Given the description of an element on the screen output the (x, y) to click on. 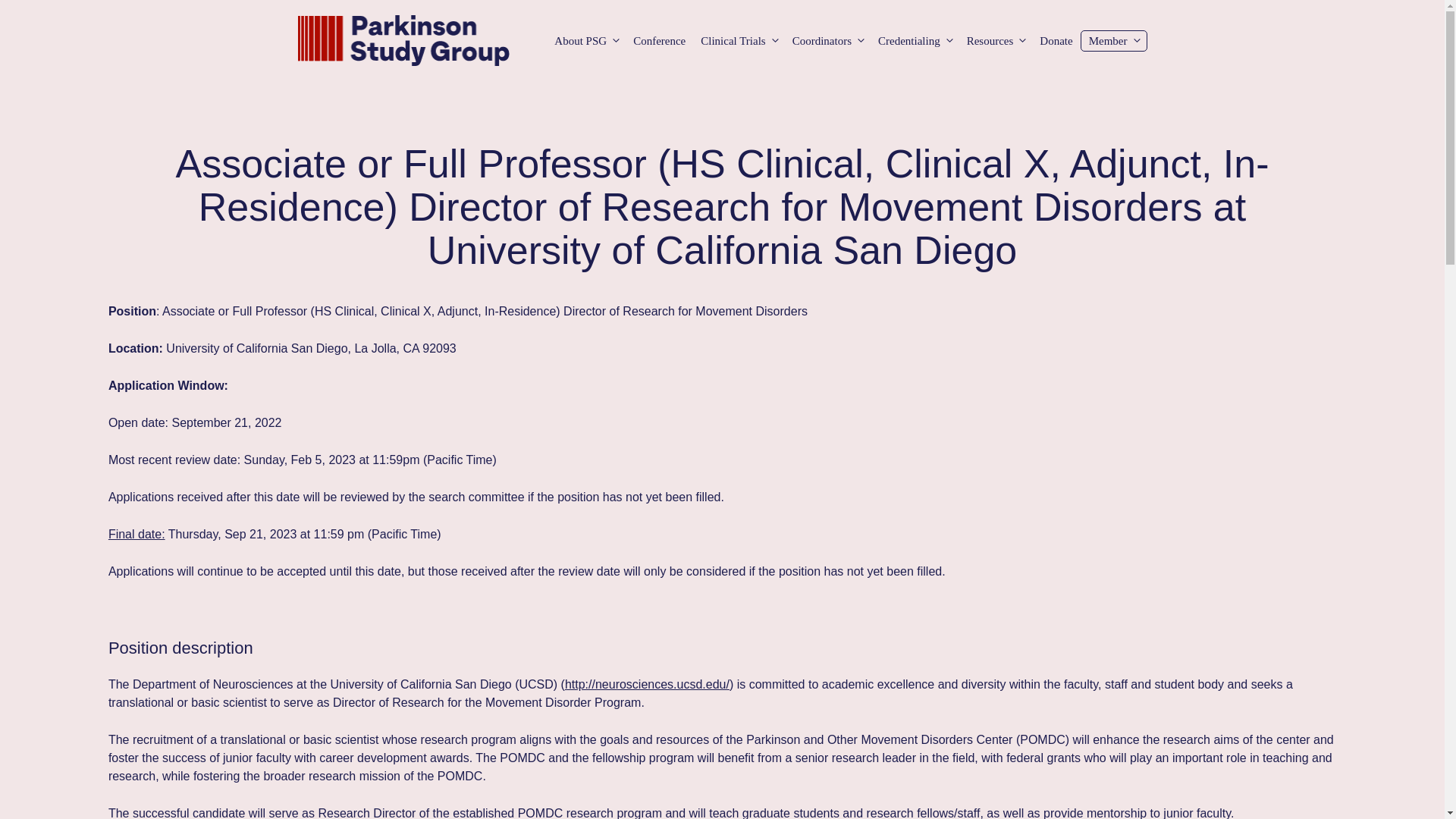
Conference (659, 40)
Credentialing (914, 40)
Resources (995, 40)
Clinical Trials (738, 40)
About PSG (586, 40)
Coordinators (827, 40)
